Given the description of an element on the screen output the (x, y) to click on. 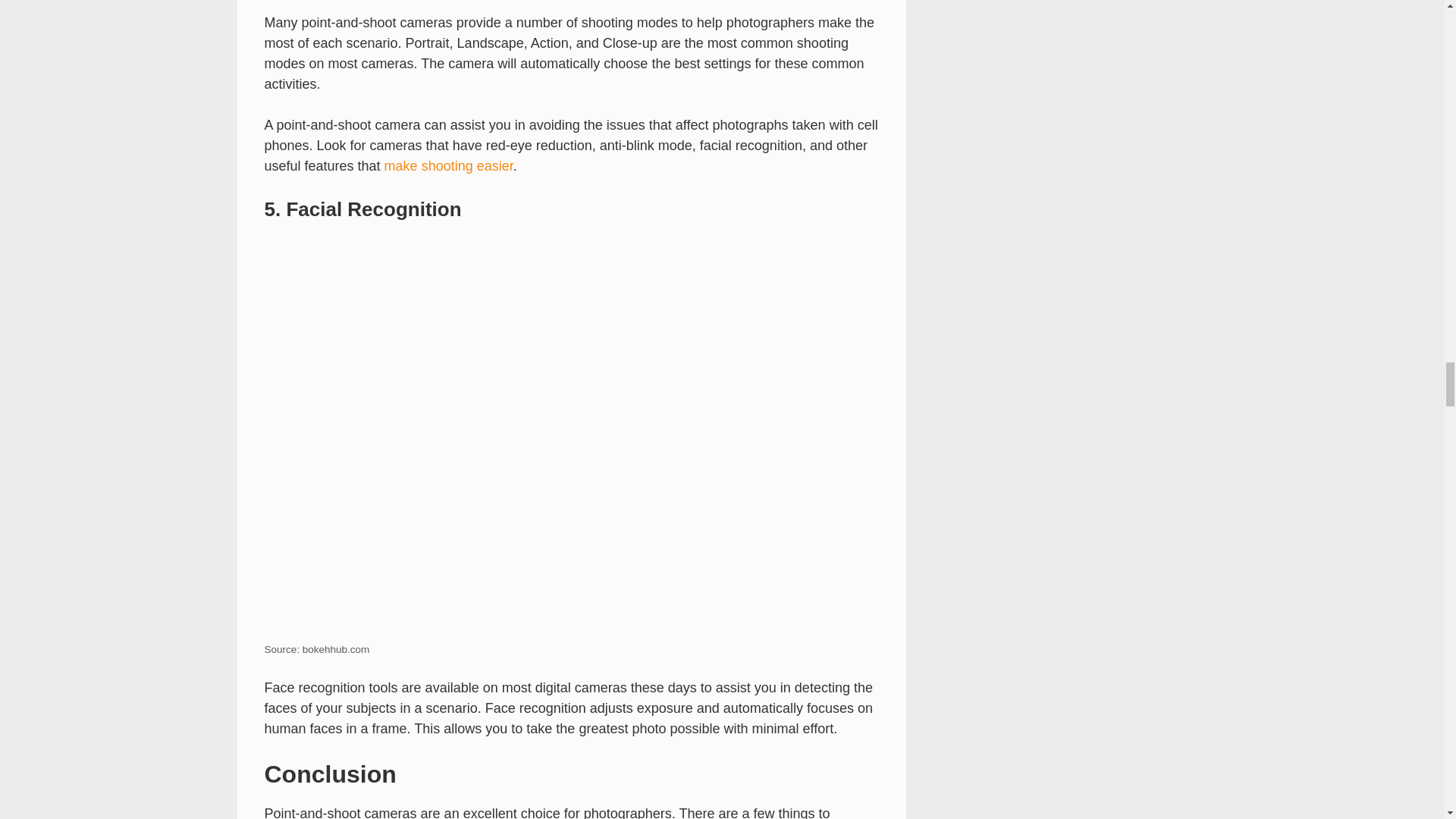
make shooting easier (448, 165)
